Given the description of an element on the screen output the (x, y) to click on. 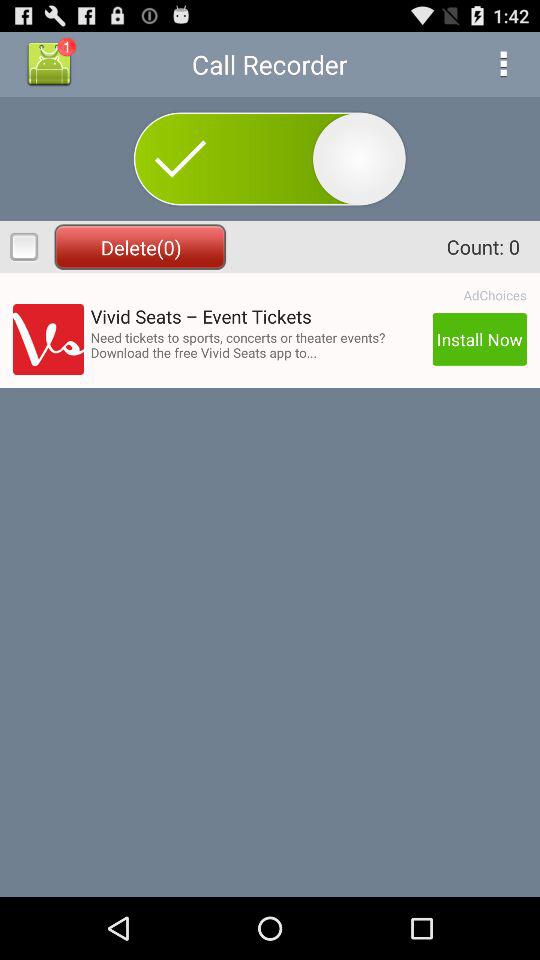
turn off icon to the left of count: 0 item (140, 246)
